Given the description of an element on the screen output the (x, y) to click on. 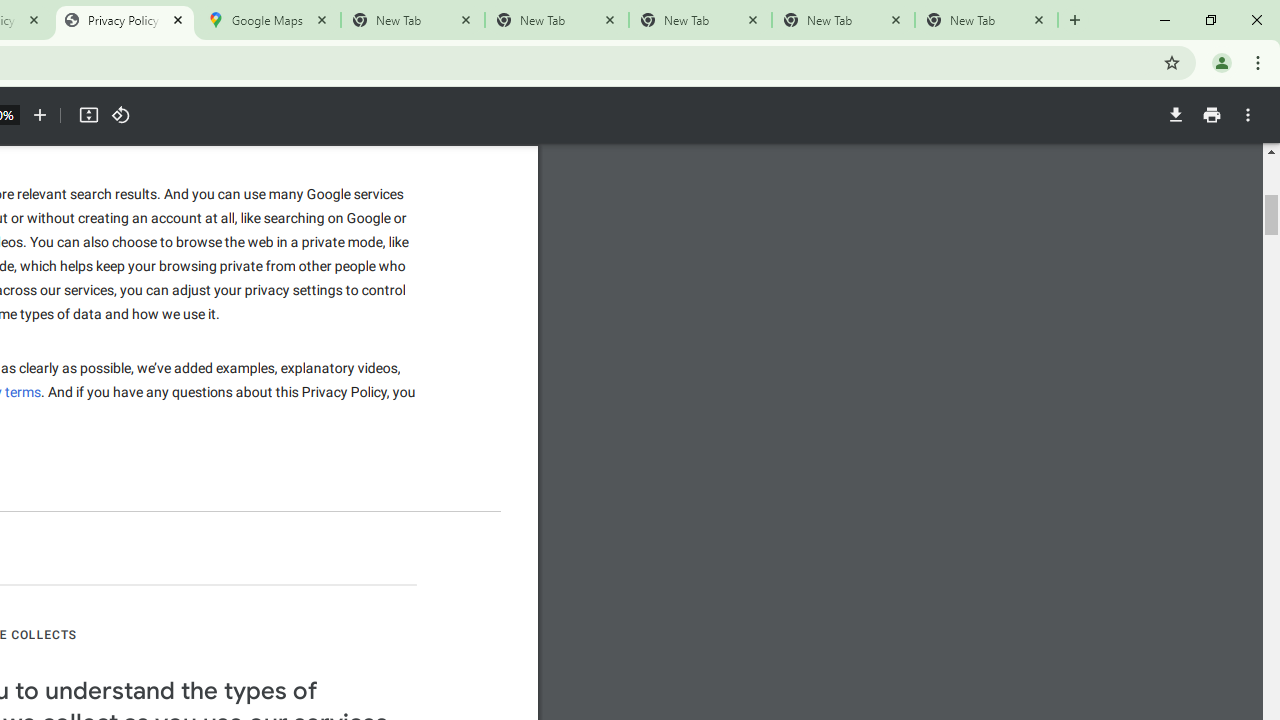
Print (1211, 115)
Google Maps (268, 20)
Download (1175, 115)
Zoom in (39, 115)
Rotate counterclockwise (119, 115)
Fit to page (87, 115)
New Tab (986, 20)
